Given the description of an element on the screen output the (x, y) to click on. 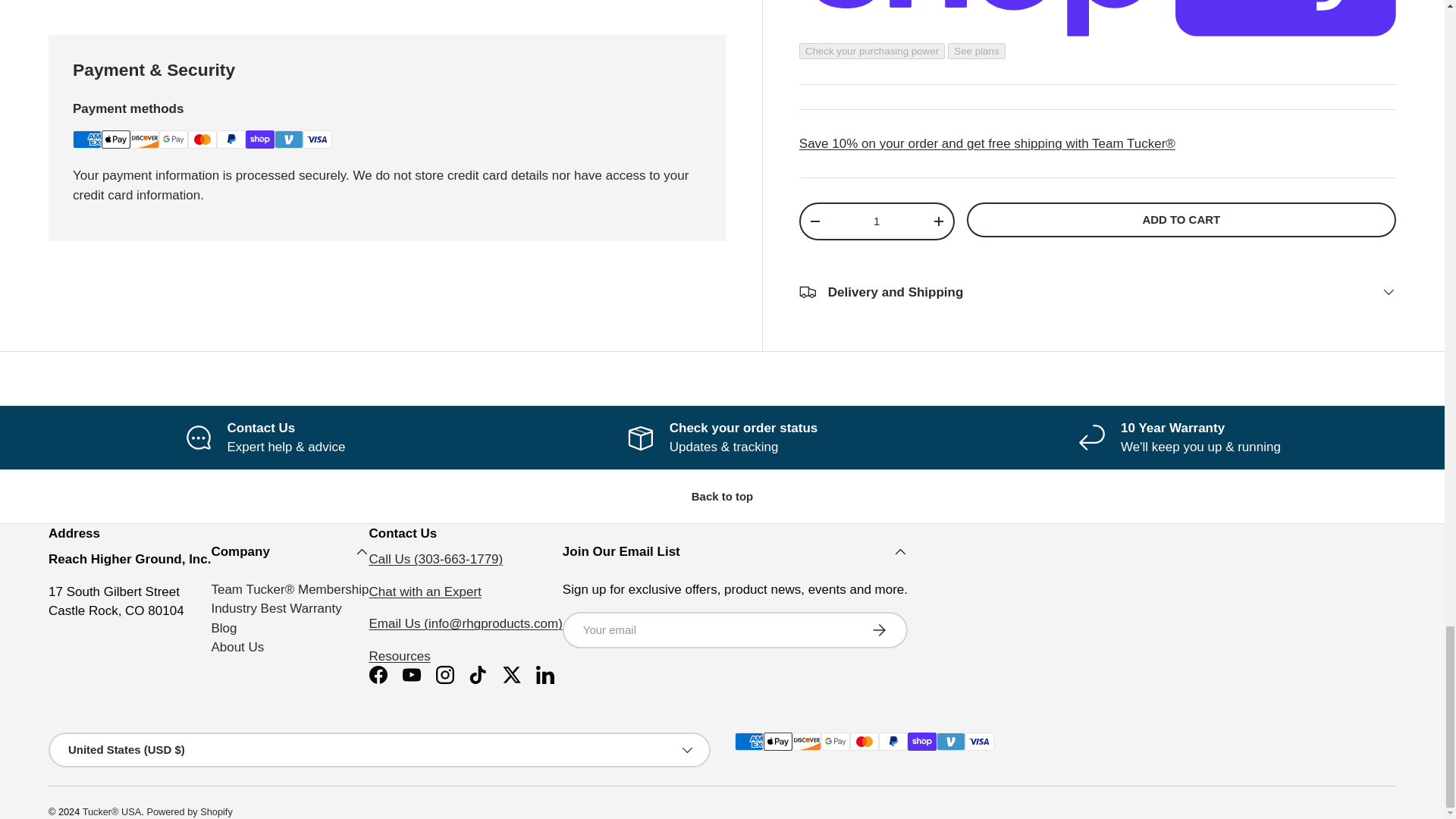
tel:303-663-1779 (436, 559)
Apple Pay (116, 139)
American Express (86, 139)
Discover (144, 139)
